Given the description of an element on the screen output the (x, y) to click on. 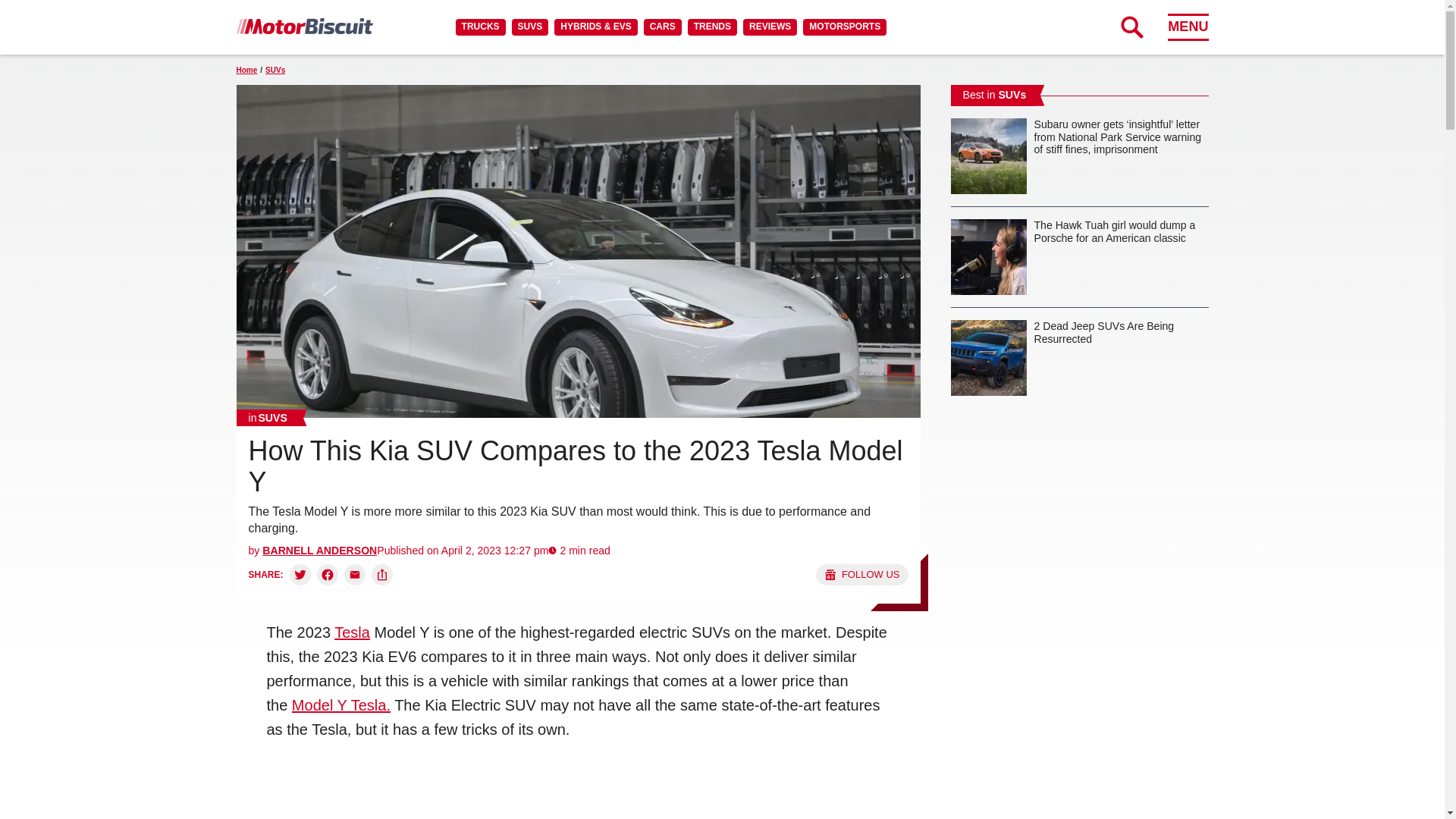
Follow us on Google News (861, 574)
SUVs (267, 417)
TRENDS (711, 26)
REVIEWS (769, 26)
SUVS (530, 26)
CARS (662, 26)
TRUCKS (480, 26)
MENU (1187, 26)
Copy link and share:  (382, 574)
